Given the description of an element on the screen output the (x, y) to click on. 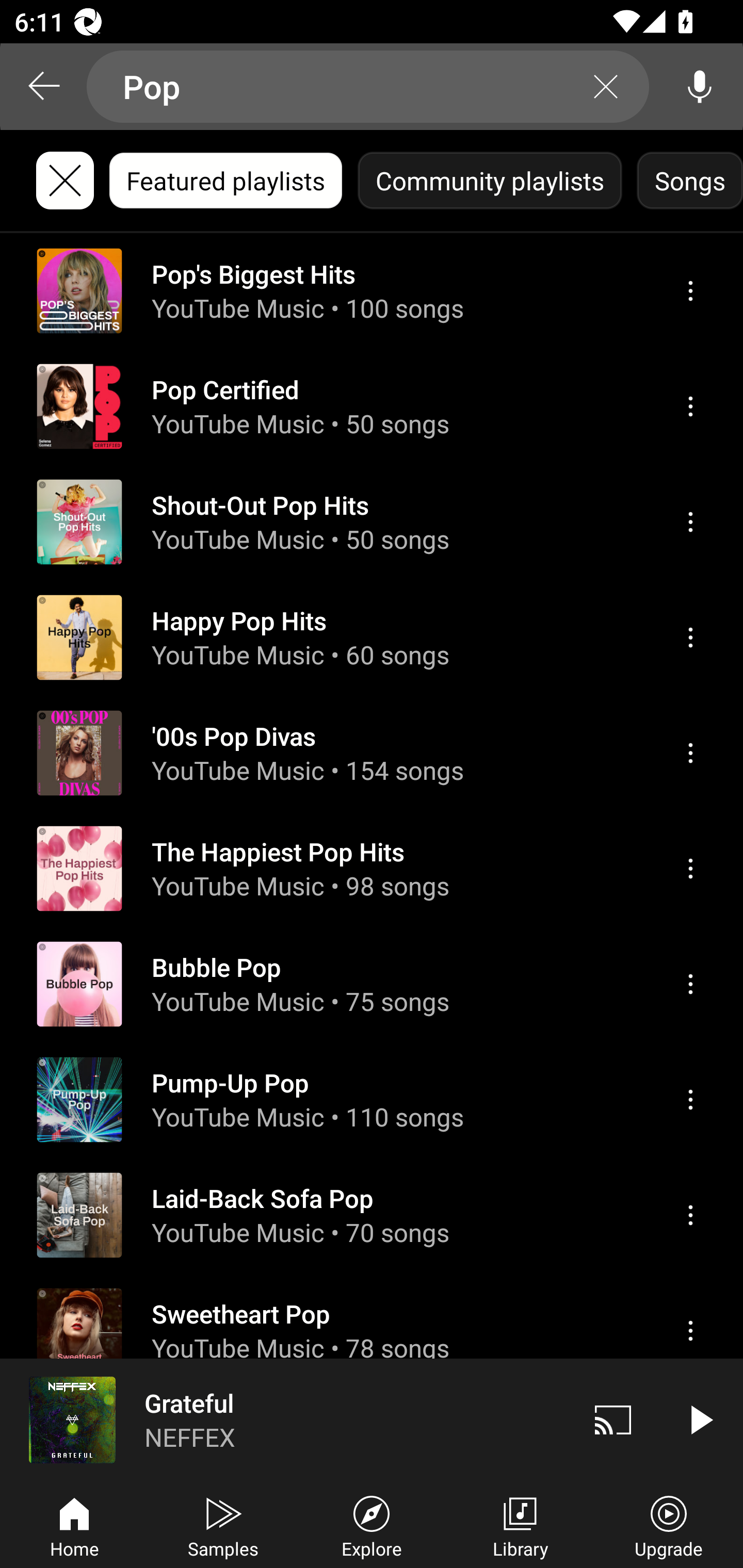
Search back (43, 86)
Pop (367, 86)
Clear search (605, 86)
Voice search (699, 86)
Clear filters (64, 181)
Menu (690, 290)
Menu (690, 406)
Menu (690, 522)
Menu (690, 638)
Menu (690, 752)
Menu (690, 868)
Menu (690, 984)
Menu (690, 1099)
Menu (690, 1215)
Menu (690, 1331)
Grateful NEFFEX (284, 1419)
Cast. Disconnected (612, 1419)
Play video (699, 1419)
Home (74, 1524)
Samples (222, 1524)
Explore (371, 1524)
Library (519, 1524)
Upgrade (668, 1524)
